Given the description of an element on the screen output the (x, y) to click on. 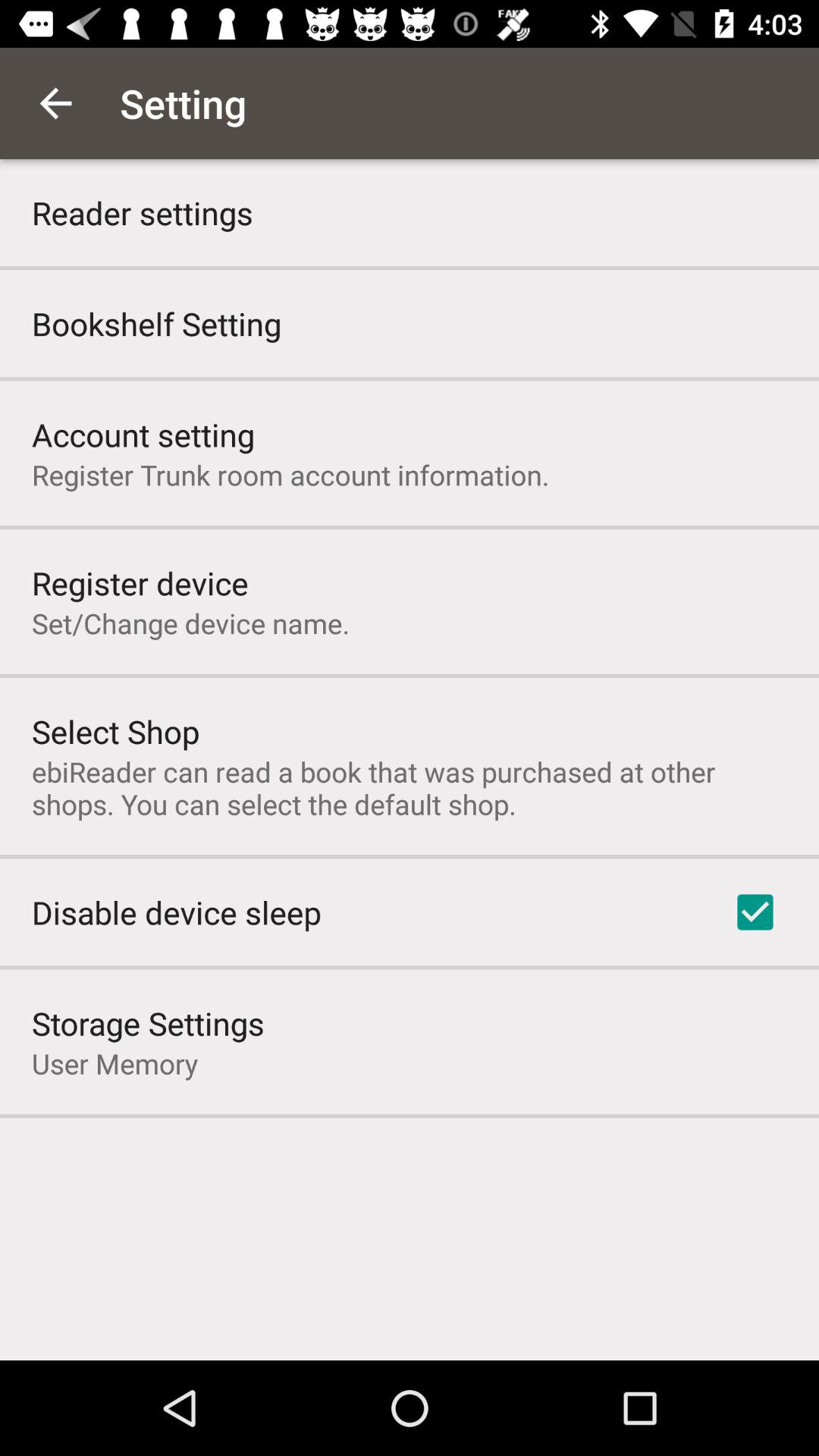
swipe until reader settings app (142, 212)
